Given the description of an element on the screen output the (x, y) to click on. 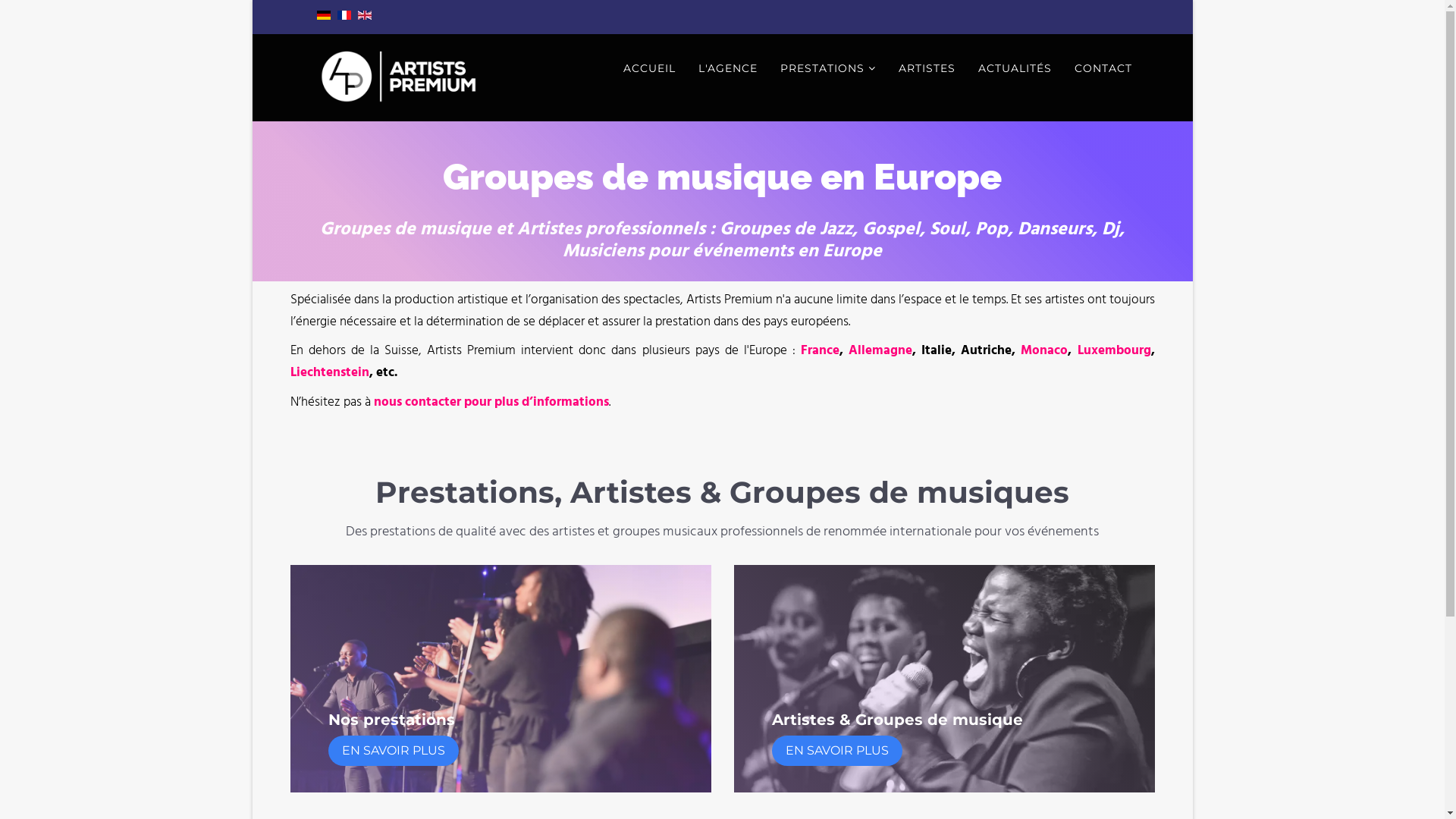
EN SAVOIR PLUS Element type: text (392, 750)
CONTACT Element type: text (1103, 68)
EN SAVOIR PLUS Element type: text (836, 750)
L'AGENCE Element type: text (727, 68)
Monaco Element type: text (1043, 350)
Artistes & Groupes de musique Element type: text (896, 719)
ARTISTES Element type: text (926, 68)
Allemagne Element type: text (880, 350)
English (UK) Element type: hover (364, 14)
France Element type: text (819, 350)
ACCUEIL Element type: text (648, 68)
Deutsch (DE) Element type: hover (323, 14)
Luxembourg Element type: text (1114, 350)
Nos prestations Element type: text (390, 719)
PRESTATIONS Element type: text (827, 68)
Liechtenstein Element type: text (328, 372)
